Given the description of an element on the screen output the (x, y) to click on. 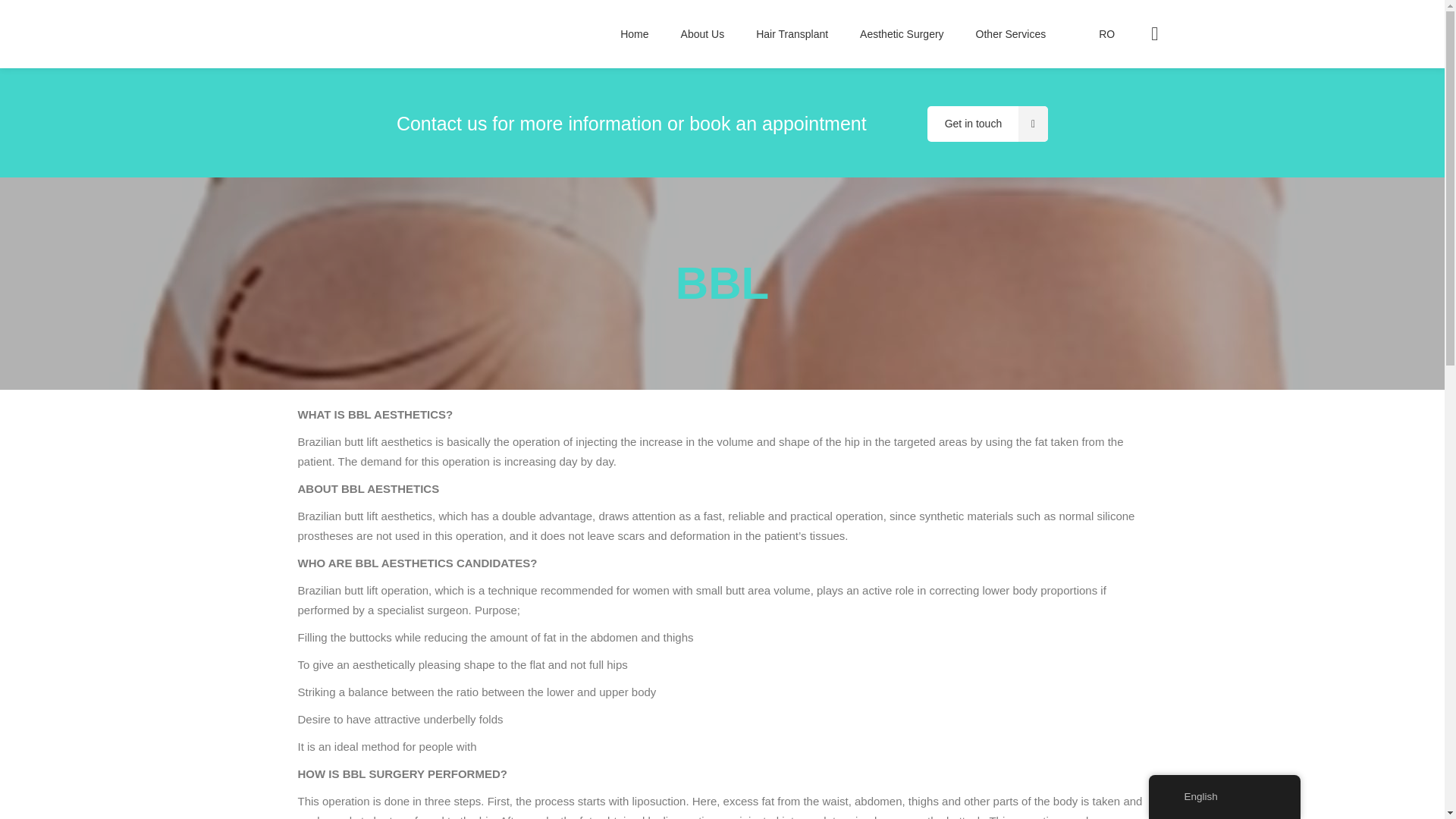
Other Services (1010, 33)
Aesthetic Surgery (901, 33)
About Us (703, 33)
Hair Transplant (791, 33)
RO (1096, 33)
English (1172, 796)
Home (633, 33)
